Given the description of an element on the screen output the (x, y) to click on. 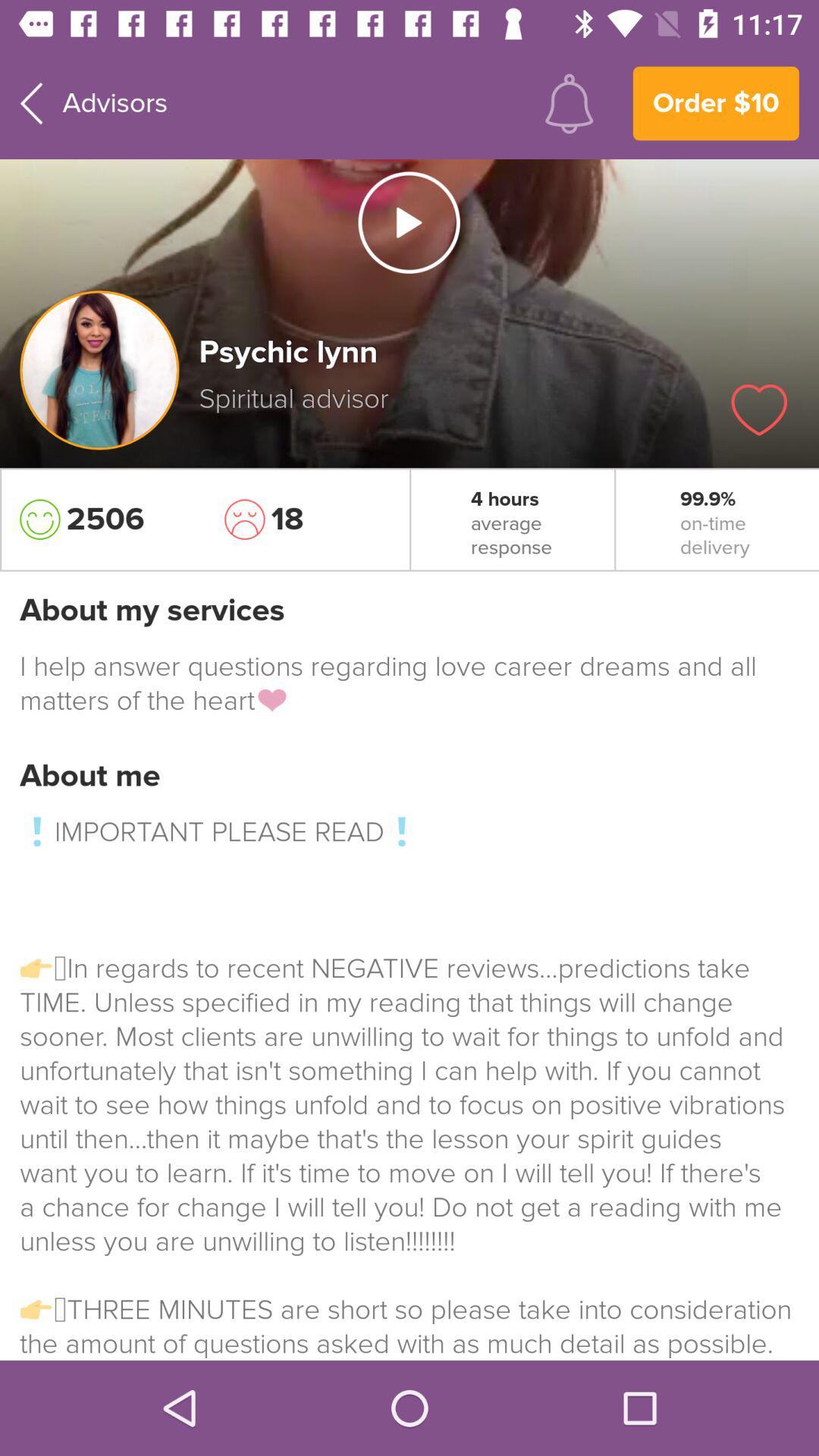
turn on the icon below the order $10 (759, 409)
